Given the description of an element on the screen output the (x, y) to click on. 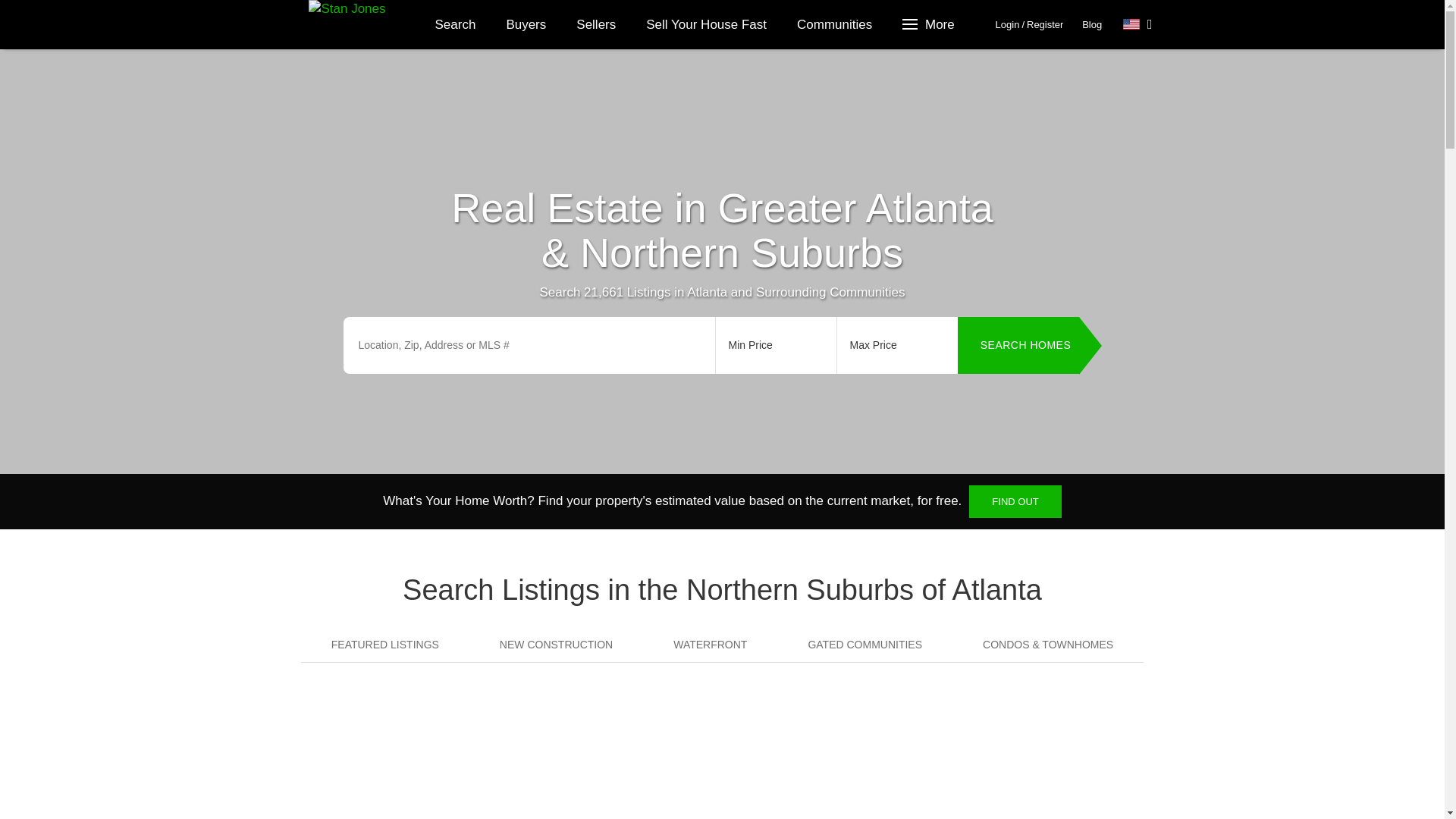
More (930, 24)
Communities (833, 24)
Sell Your House Fast (705, 24)
Search (456, 24)
Blog (1091, 24)
Select Language (1137, 24)
Buyers (525, 24)
Register (1044, 24)
Sellers (595, 24)
